Given the description of an element on the screen output the (x, y) to click on. 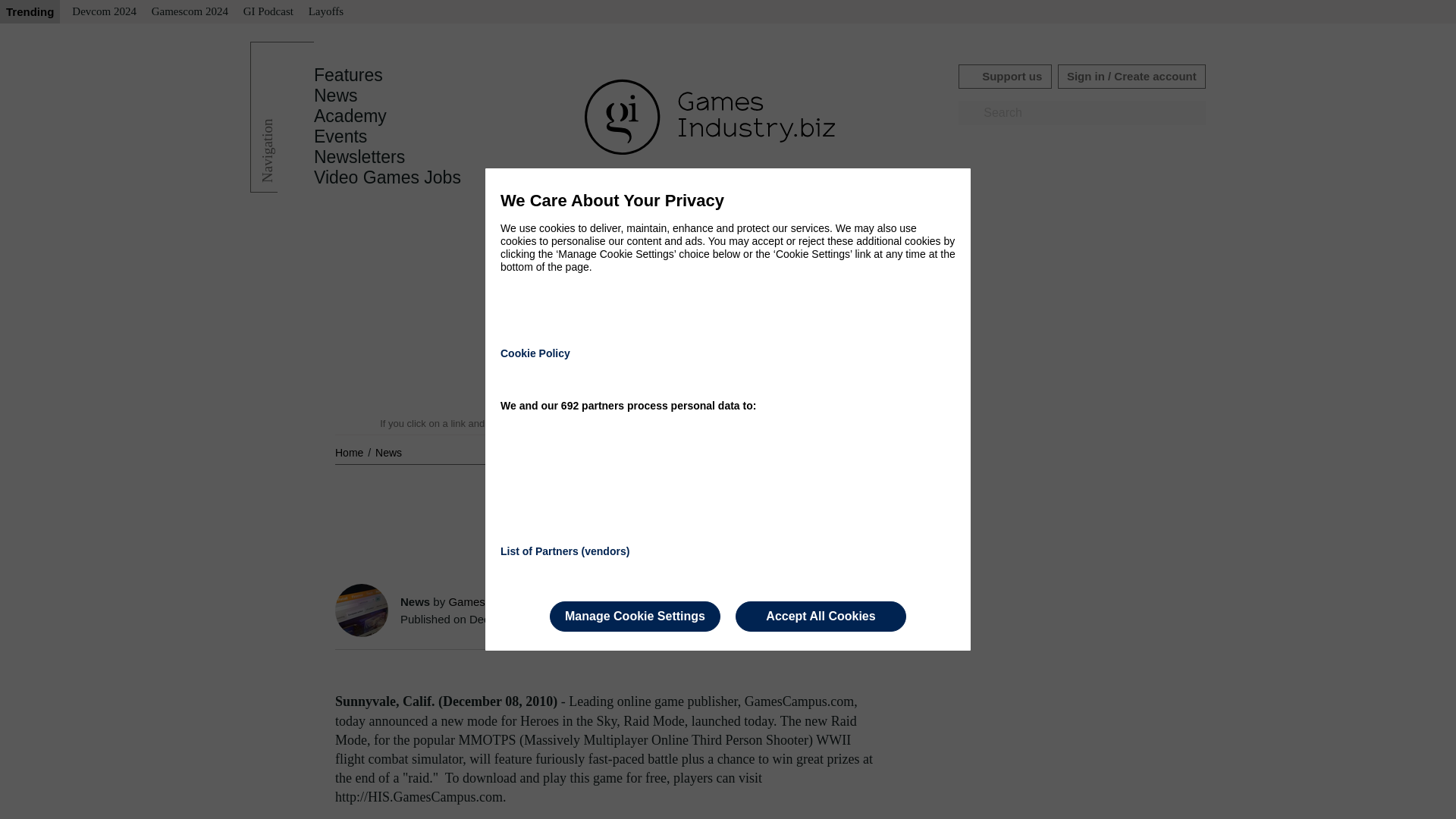
Gamescom 2024 (189, 11)
Events (340, 136)
Support us (1004, 75)
Video Games Jobs (387, 177)
Academy (350, 116)
Home (350, 452)
Academy (350, 116)
Newsletters (359, 157)
Read our editorial policy (781, 423)
Devcom 2024 (103, 11)
